Given the description of an element on the screen output the (x, y) to click on. 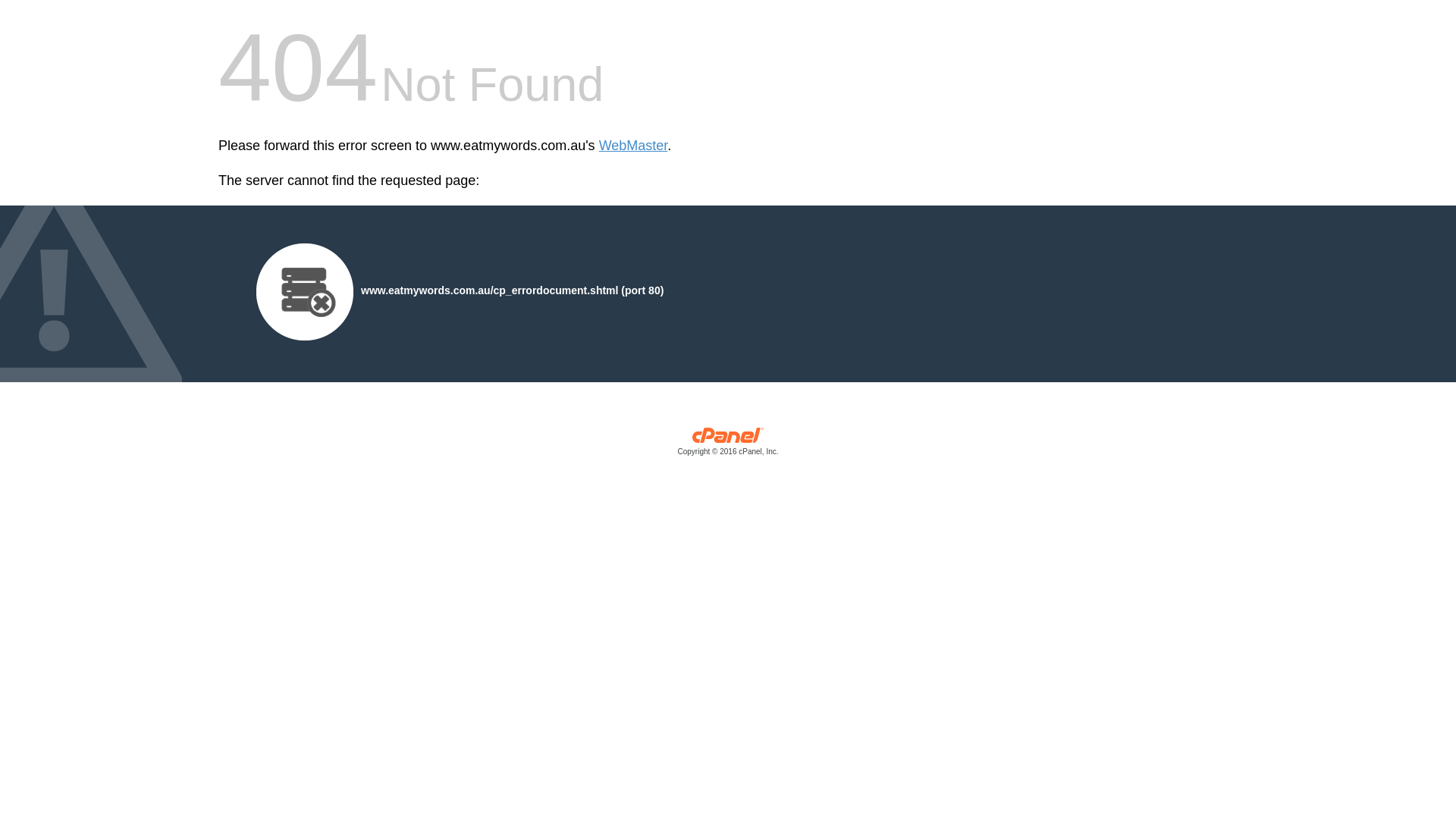
WebMaster Element type: text (633, 145)
